Given the description of an element on the screen output the (x, y) to click on. 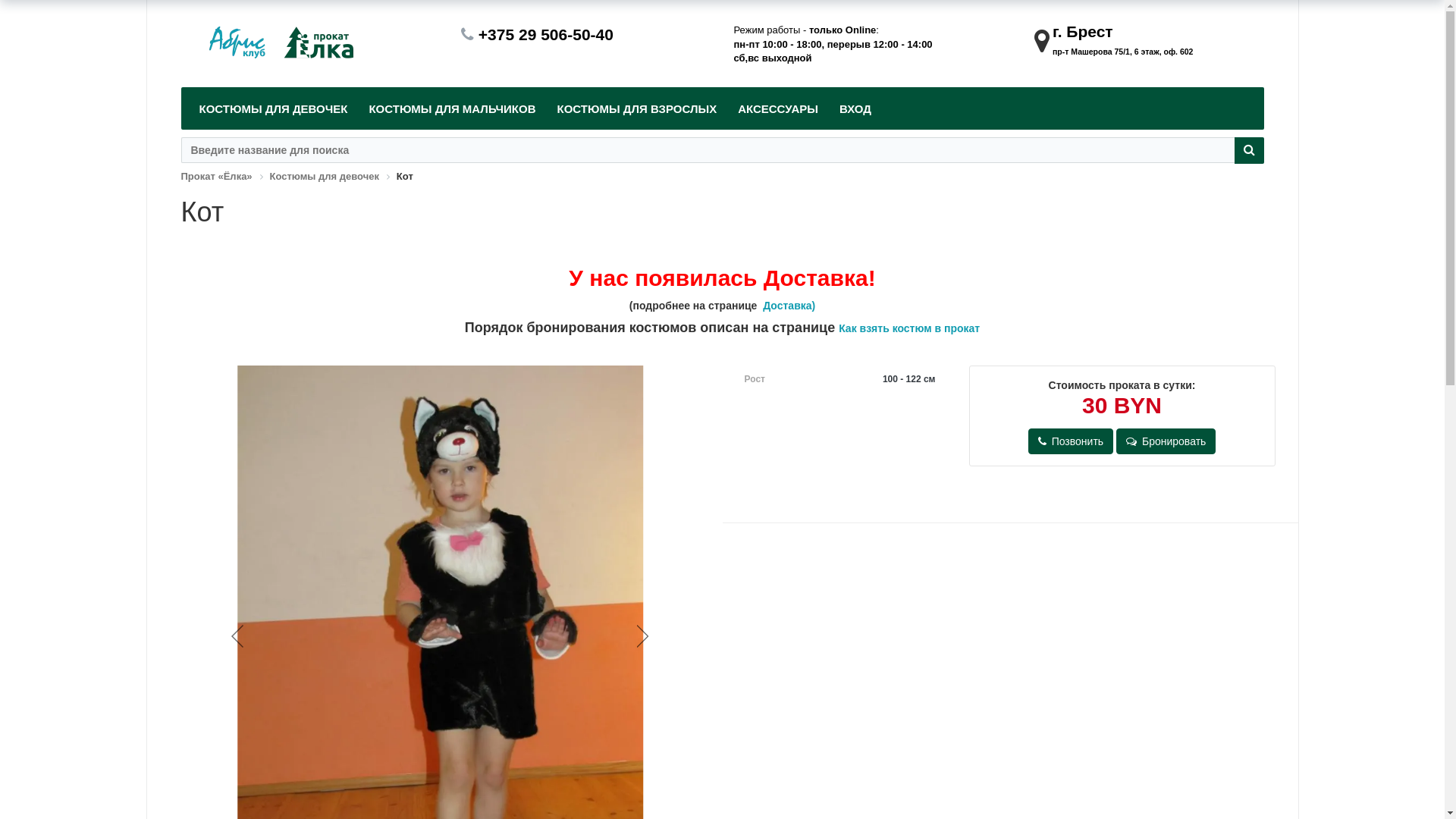
+375 29 506-50-40 Element type: text (545, 34)
